Given the description of an element on the screen output the (x, y) to click on. 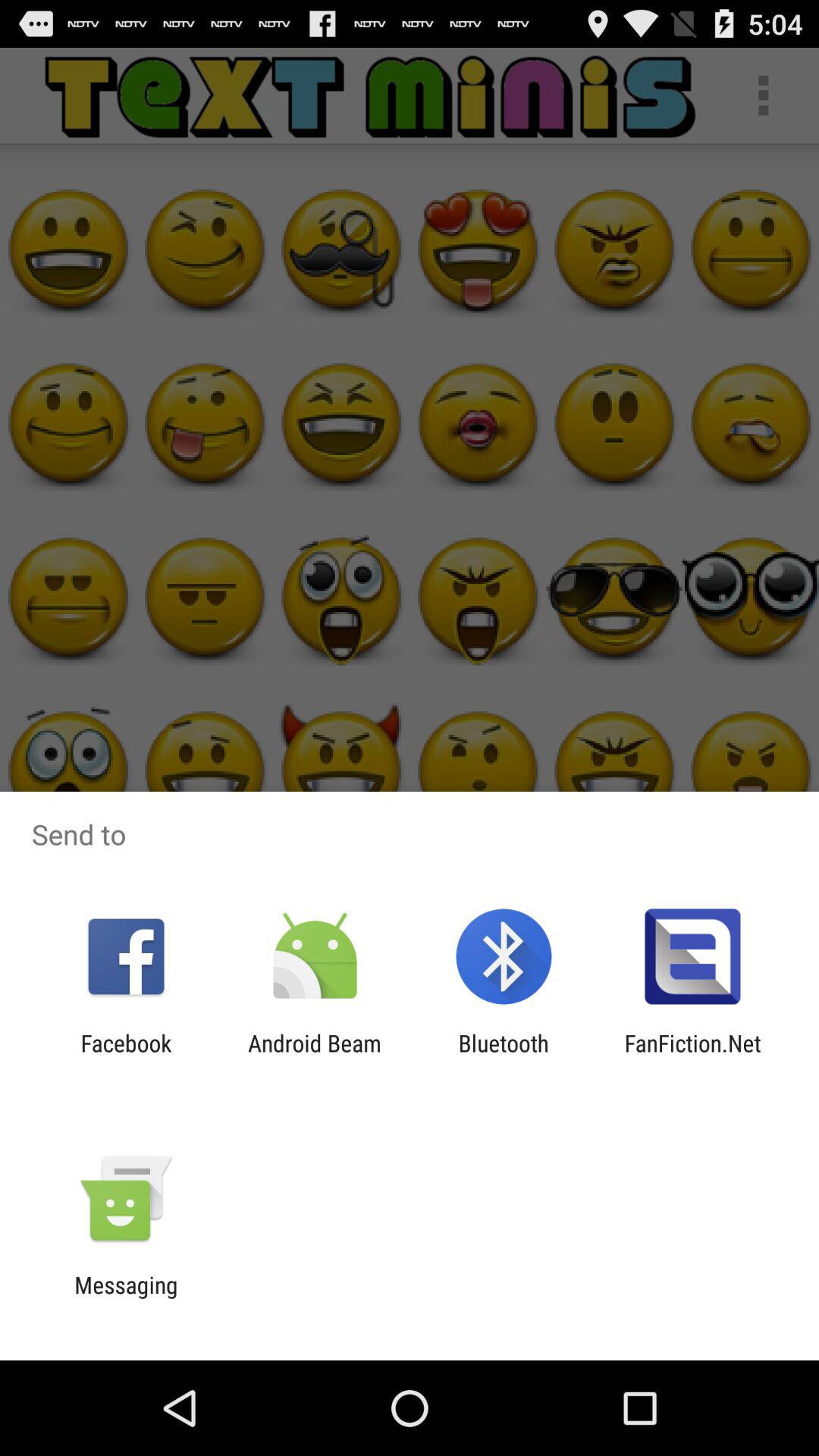
scroll to the messaging (126, 1298)
